Given the description of an element on the screen output the (x, y) to click on. 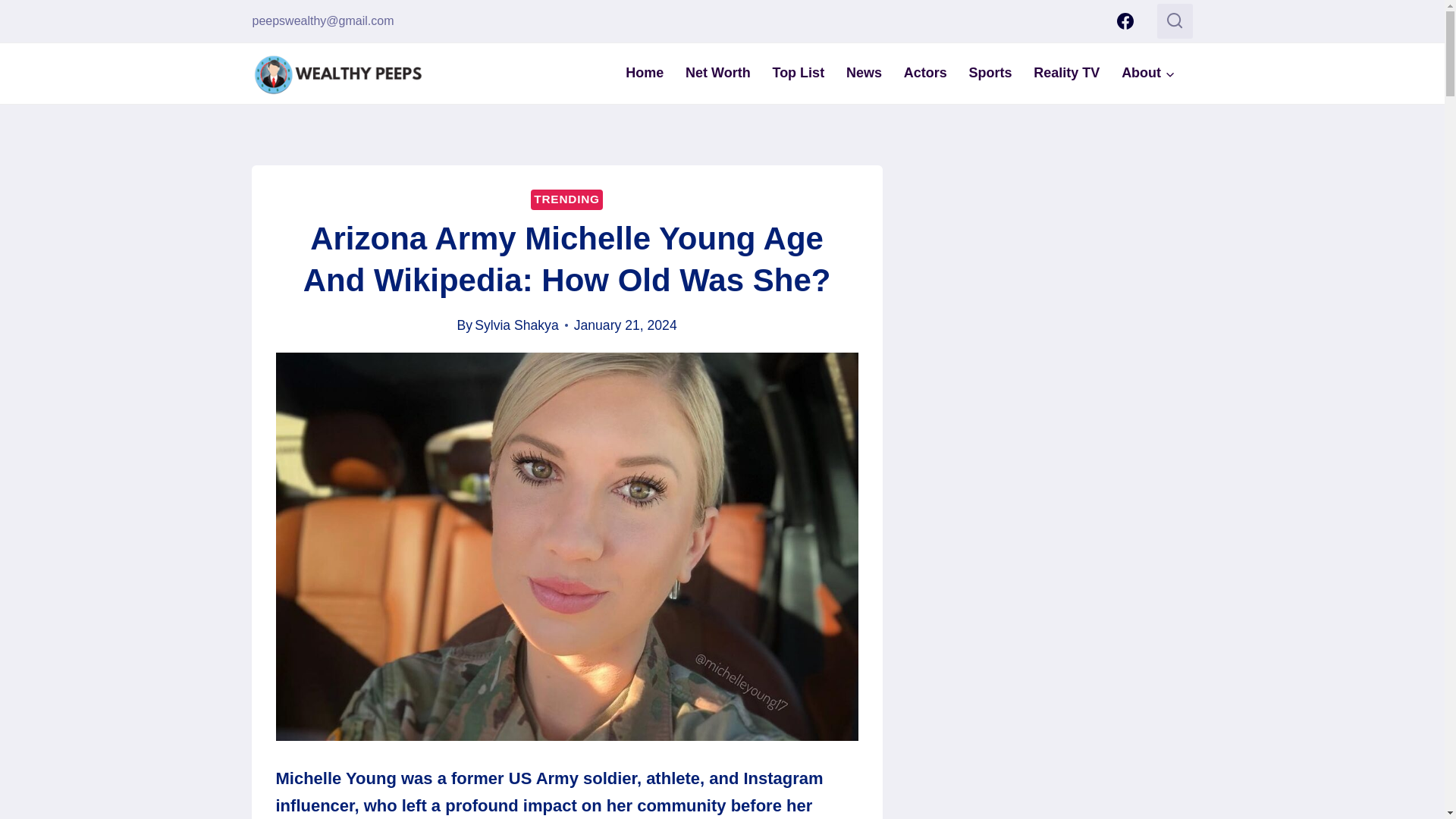
Home (644, 72)
Top List (797, 72)
Reality TV (1066, 72)
Actors (925, 72)
Sports (990, 72)
Net Worth (718, 72)
News (864, 72)
Sylvia Shakya (516, 324)
About (1148, 72)
TRENDING (566, 199)
